Given the description of an element on the screen output the (x, y) to click on. 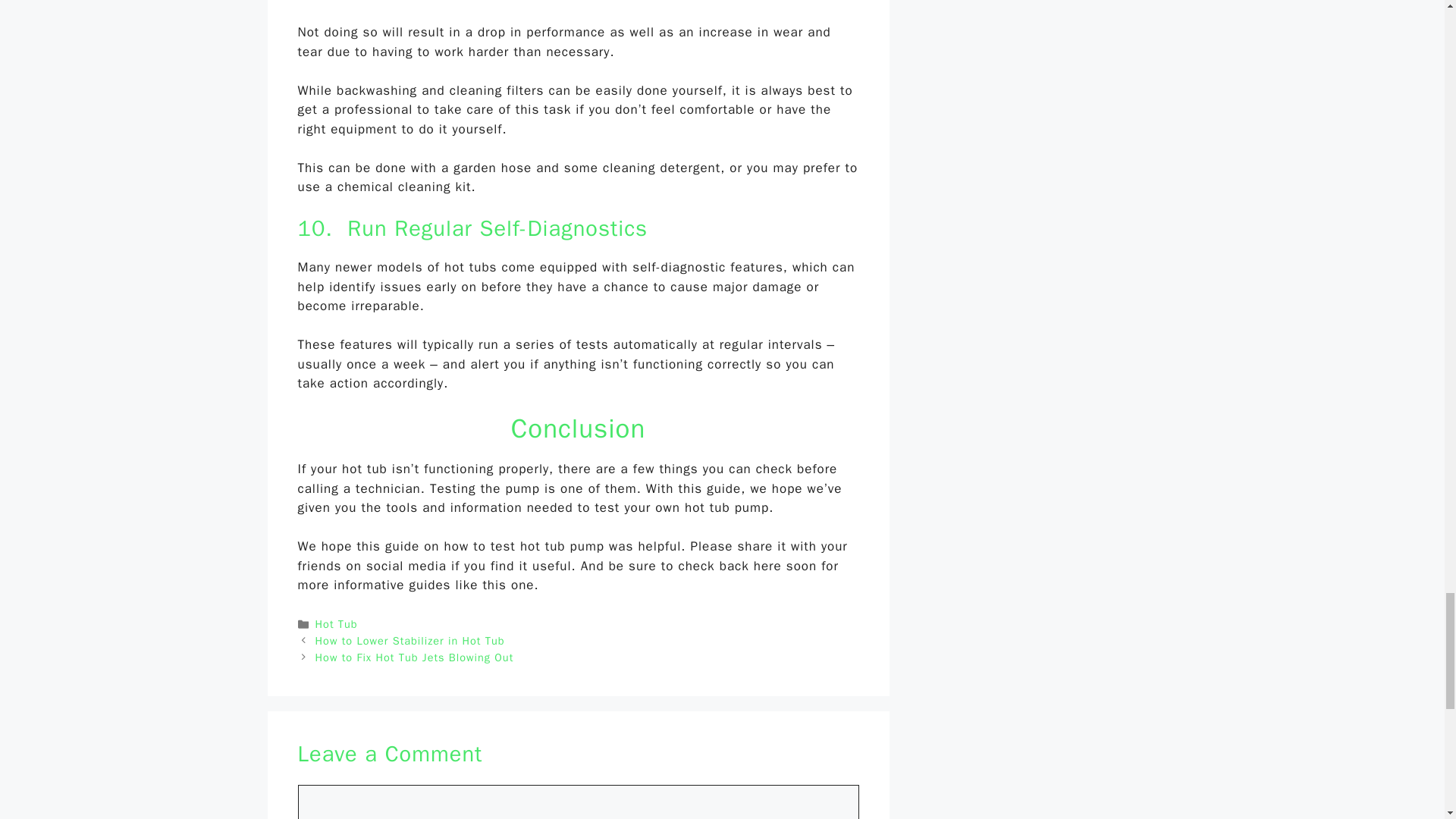
Hot Tub (336, 623)
How to Fix Hot Tub Jets Blowing Out (414, 657)
How to Lower Stabilizer in Hot Tub (410, 640)
